Given the description of an element on the screen output the (x, y) to click on. 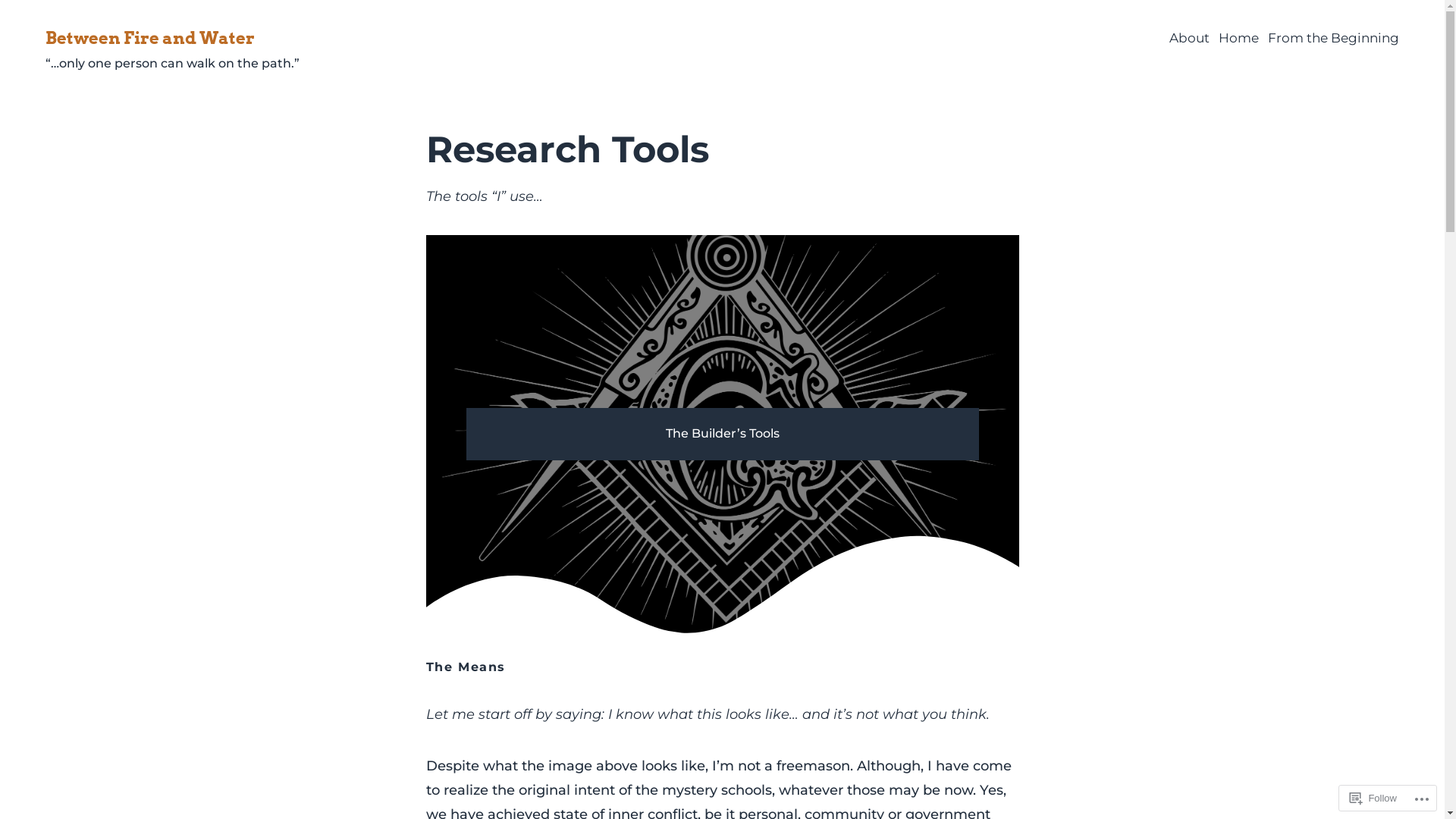
About Element type: text (1189, 38)
Home Element type: text (1238, 38)
Between Fire and Water Element type: text (149, 37)
Follow Element type: text (1372, 797)
From the Beginning Element type: text (1333, 38)
